Given the description of an element on the screen output the (x, y) to click on. 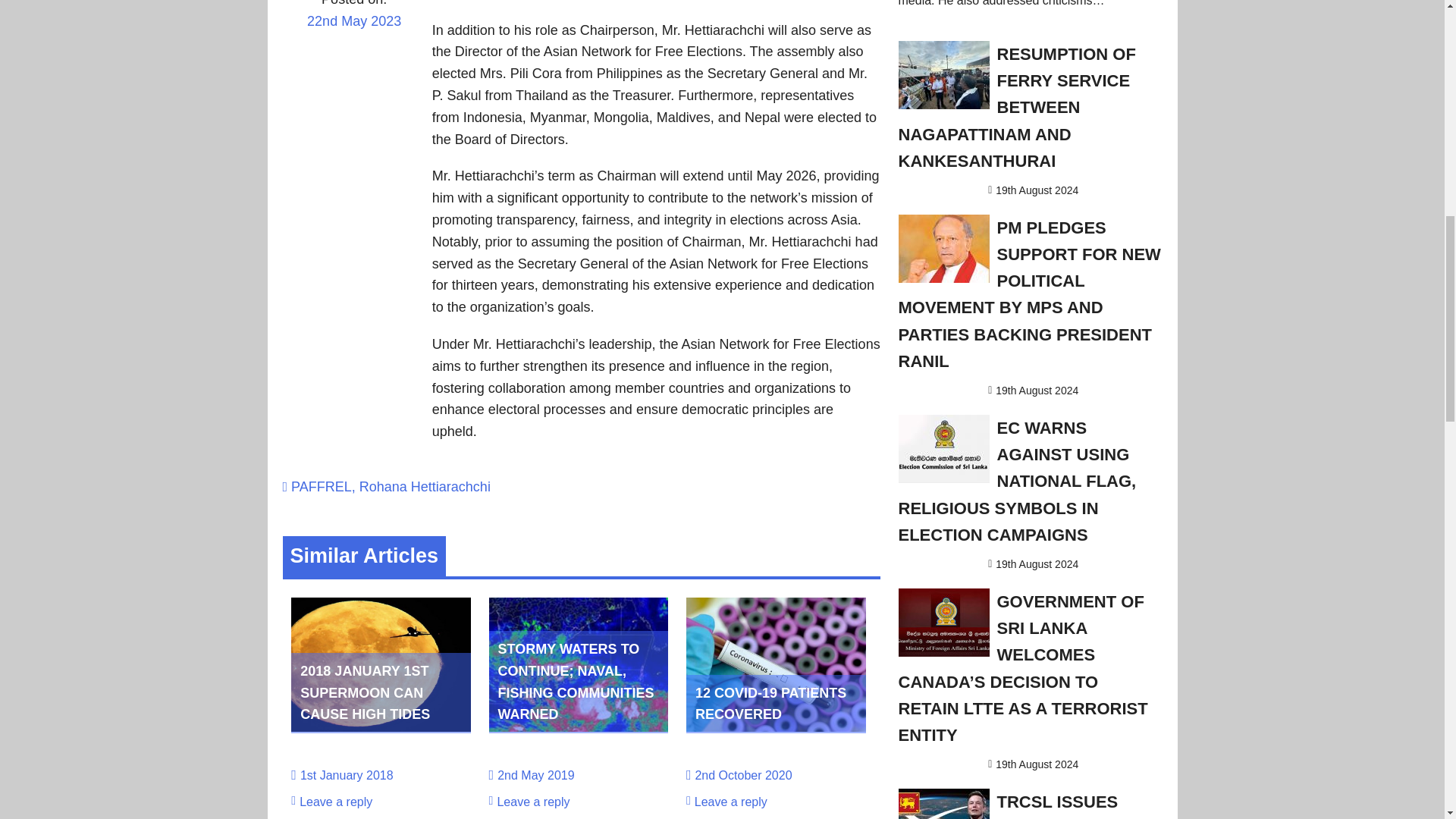
2018 JANUARY 1ST SUPERMOON CAN CAUSE HIGH TIDES (364, 692)
2018 January 1st Supermoon can cause high tides (380, 726)
Stormy waters to continue; Naval, fishing communities warned (575, 681)
22nd May 2023 (353, 30)
12 COVID-19 patients recovered (775, 726)
Stormy waters to continue; Naval, fishing communities warned (578, 726)
STORMY WATERS TO CONTINUE; NAVAL, FISHING COMMUNITIES WARNED (575, 681)
